Given the description of an element on the screen output the (x, y) to click on. 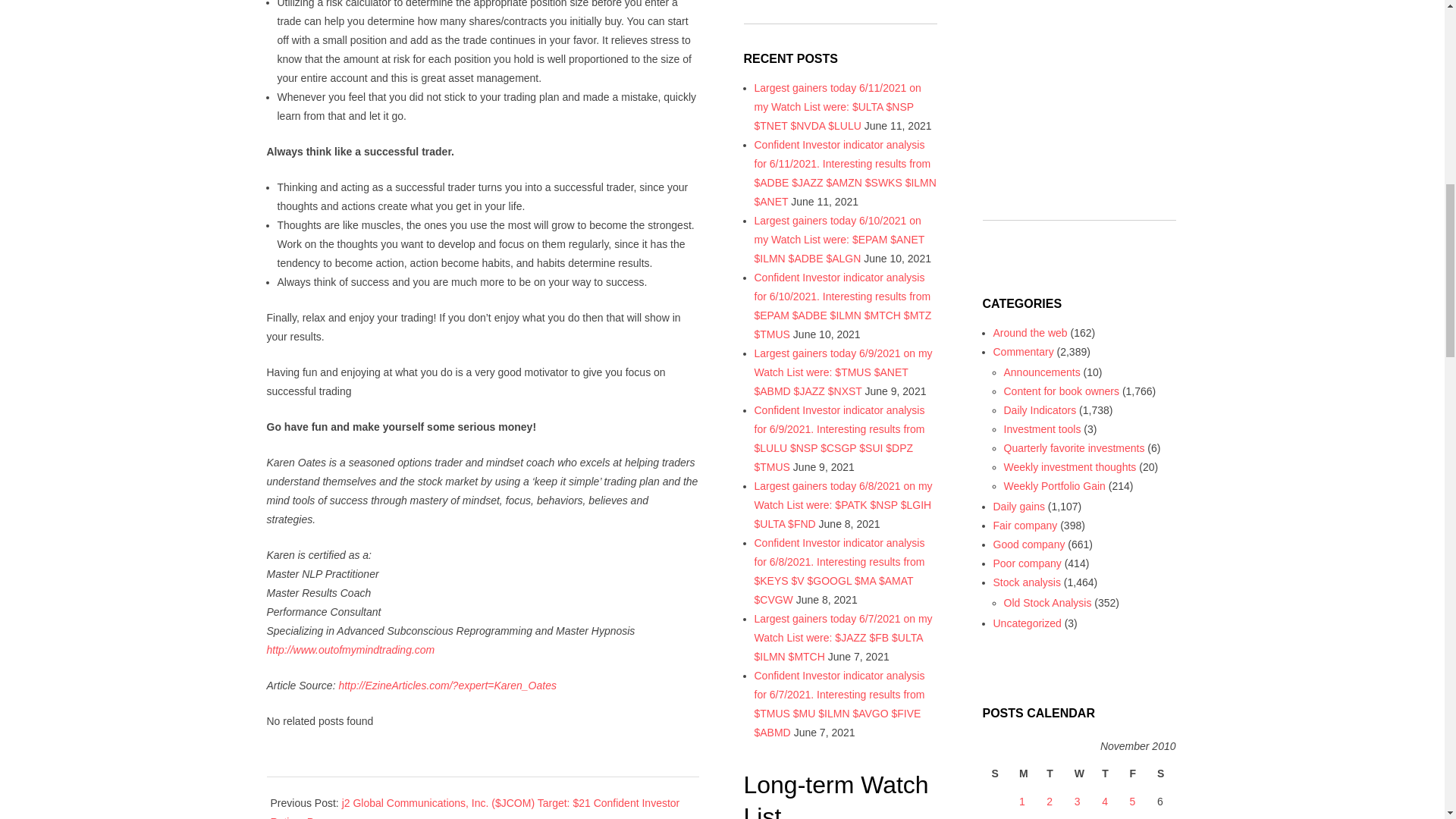
Thursday (1106, 773)
Wednesday (1079, 773)
Sunday (996, 773)
Saturday (1161, 773)
Monday (1023, 773)
Tuesday (1050, 773)
Friday (1134, 773)
